Given the description of an element on the screen output the (x, y) to click on. 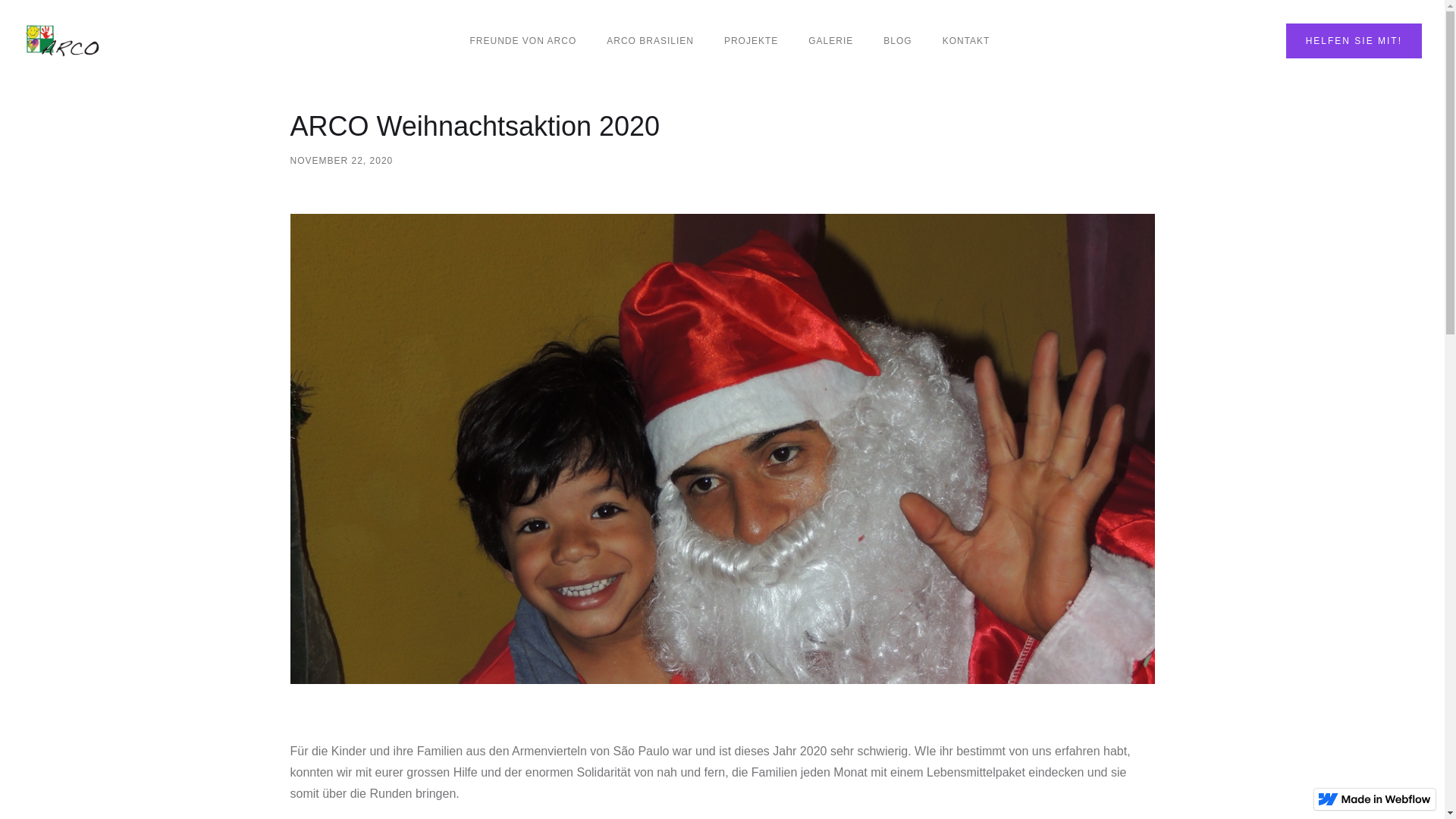
BLOG Element type: text (897, 40)
KONTAKT Element type: text (966, 40)
ARCO BRASILIEN Element type: text (650, 40)
HELFEN SIE MIT! Element type: text (1353, 40)
FREUNDE VON ARCO Element type: text (523, 40)
PROJEKTE Element type: text (751, 40)
GALERIE Element type: text (830, 40)
